Given the description of an element on the screen output the (x, y) to click on. 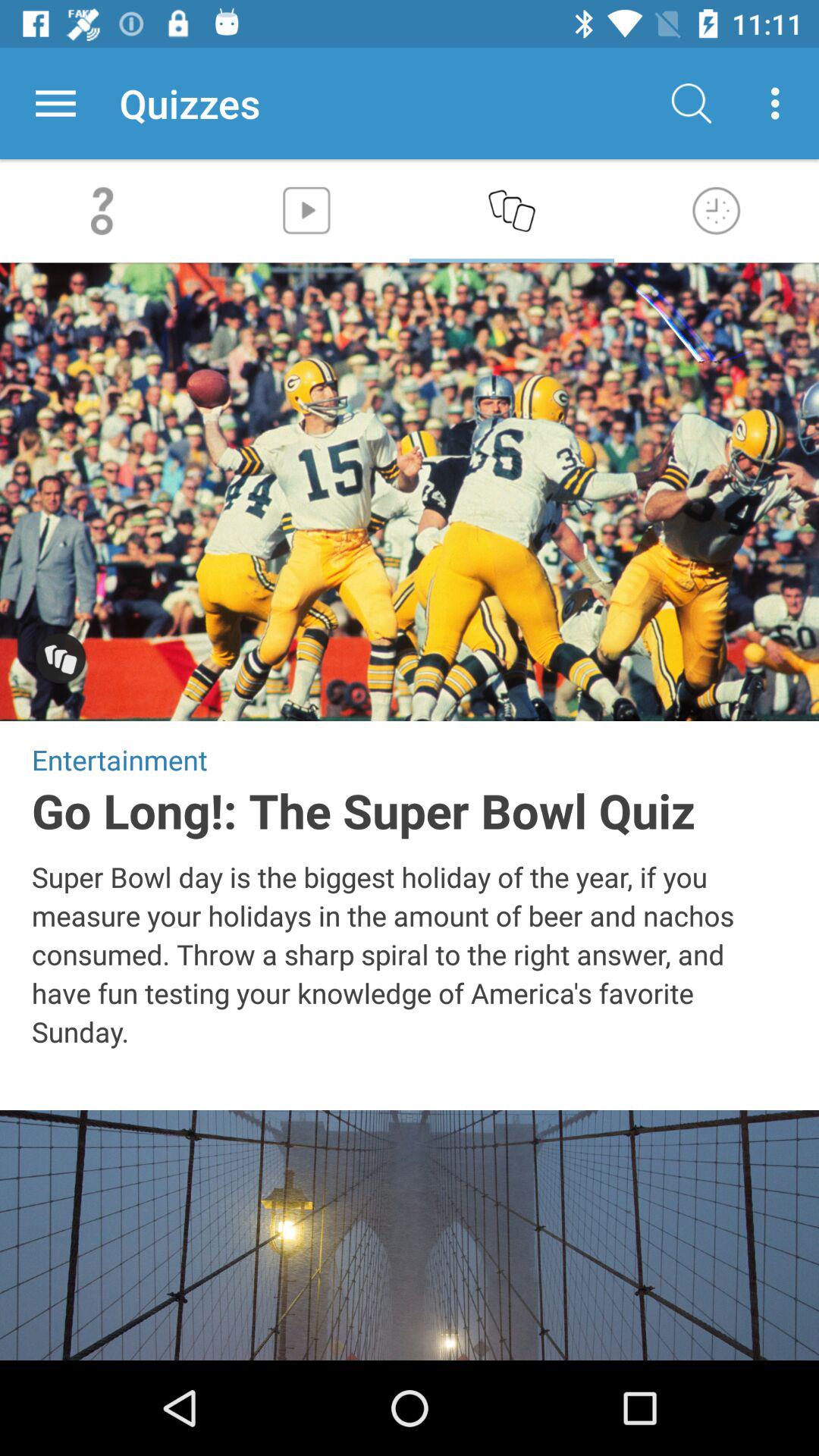
to choose the files (55, 103)
